Given the description of an element on the screen output the (x, y) to click on. 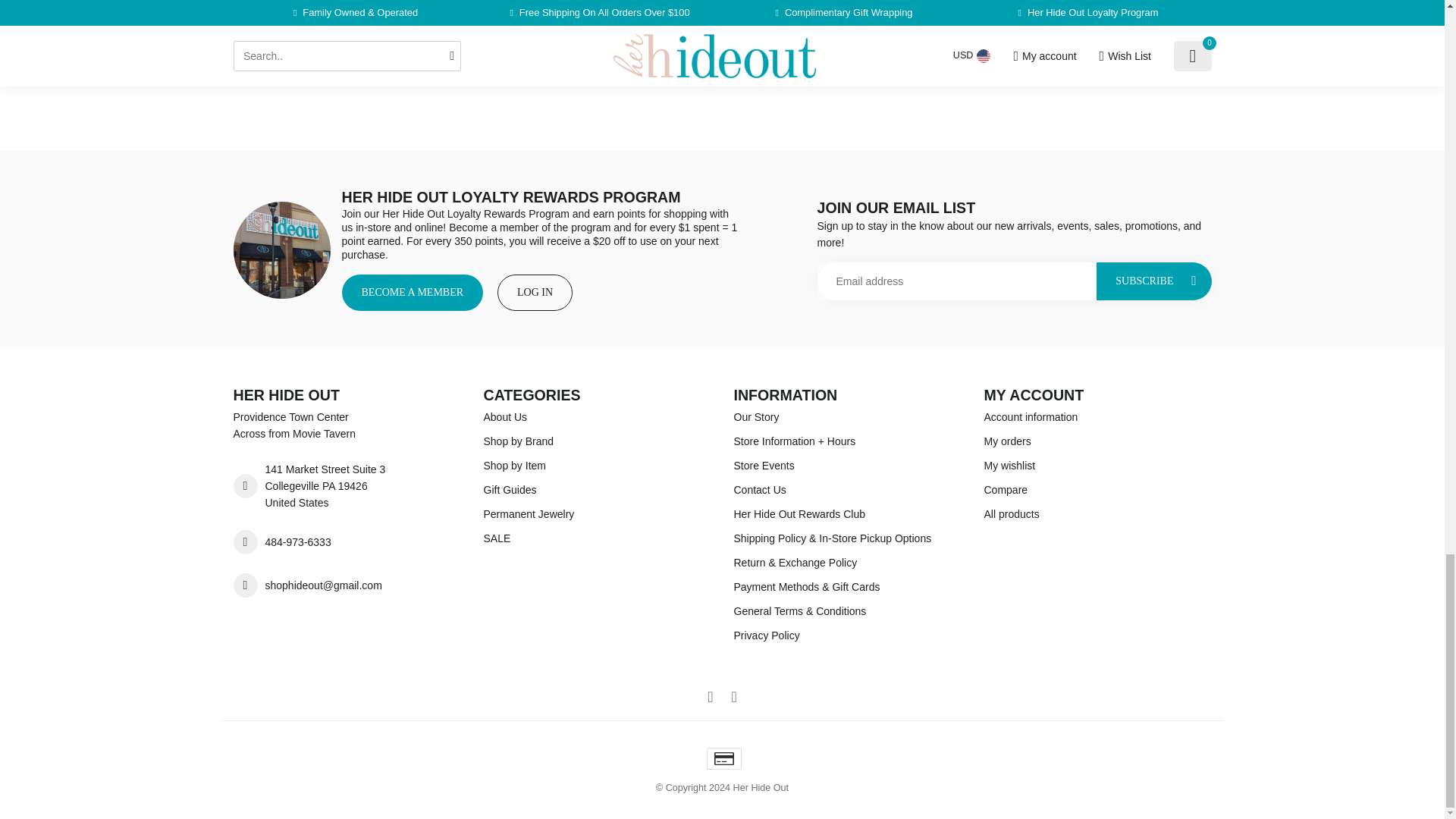
Our Story (846, 416)
Store Events (846, 465)
1 (472, 63)
Her Hide Out Rewards Club (846, 514)
Contact Us (846, 489)
